Given the description of an element on the screen output the (x, y) to click on. 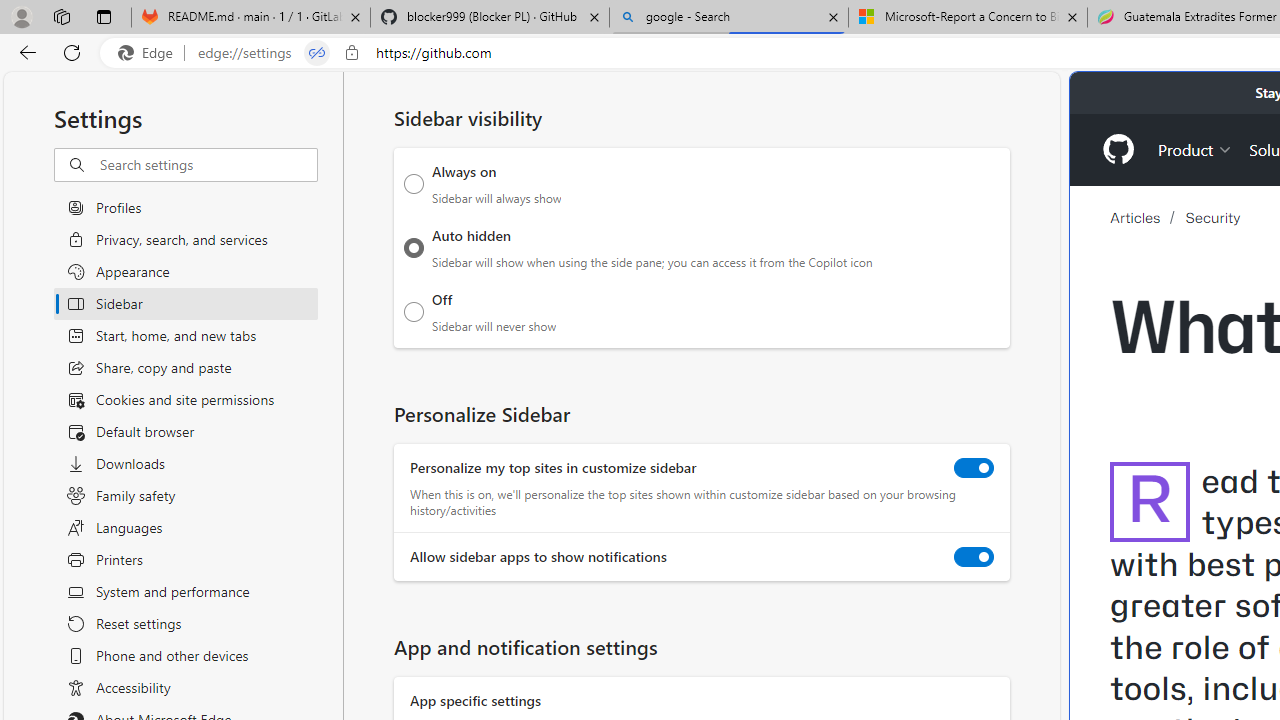
Search settings (207, 165)
Personalize my top sites in customize sidebar (973, 467)
Edge (150, 53)
Articles (1134, 217)
Homepage (1118, 149)
Off Sidebar will never show (413, 311)
Product (1195, 148)
Articles (1147, 217)
Tabs in split screen (317, 53)
